Given the description of an element on the screen output the (x, y) to click on. 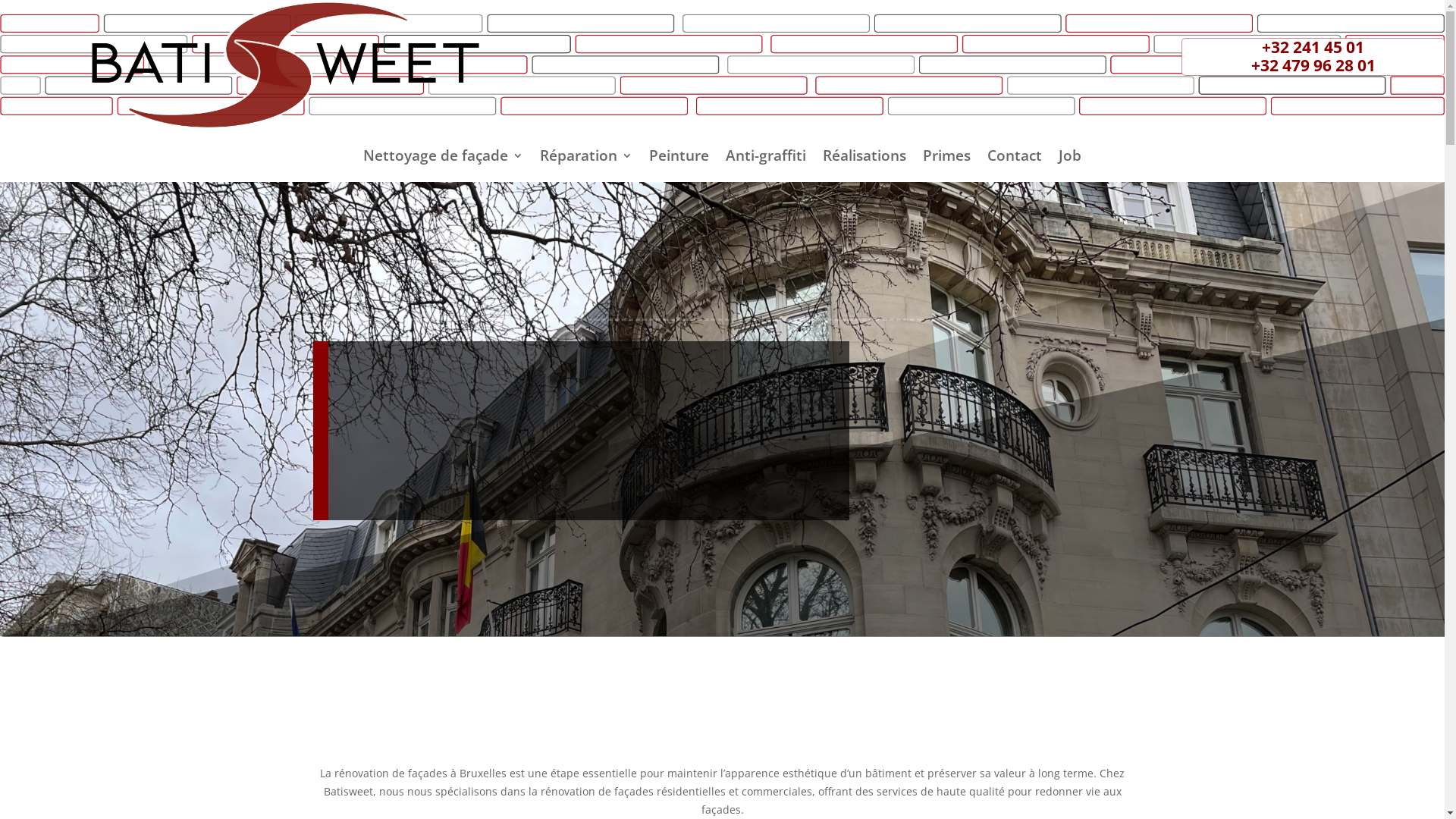
Job Element type: text (1069, 158)
Anti-graffiti Element type: text (765, 158)
Peinture Element type: text (679, 158)
Primes Element type: text (946, 158)
+32 479 96 28 01 Element type: text (1313, 64)
Contact Element type: text (1014, 158)
+32 241 45 01 Element type: text (1312, 46)
